Given the description of an element on the screen output the (x, y) to click on. 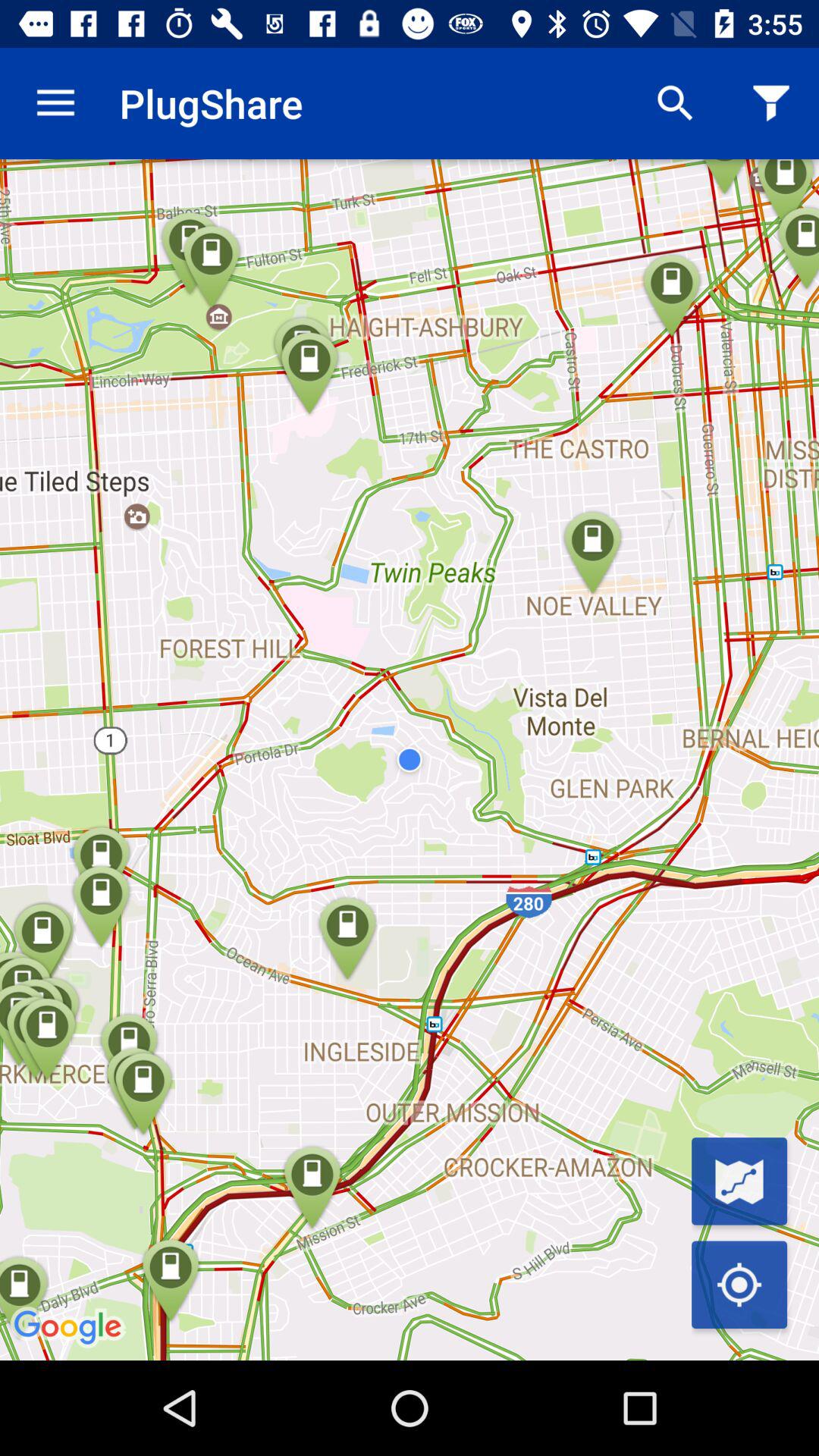
open map (739, 1181)
